Given the description of an element on the screen output the (x, y) to click on. 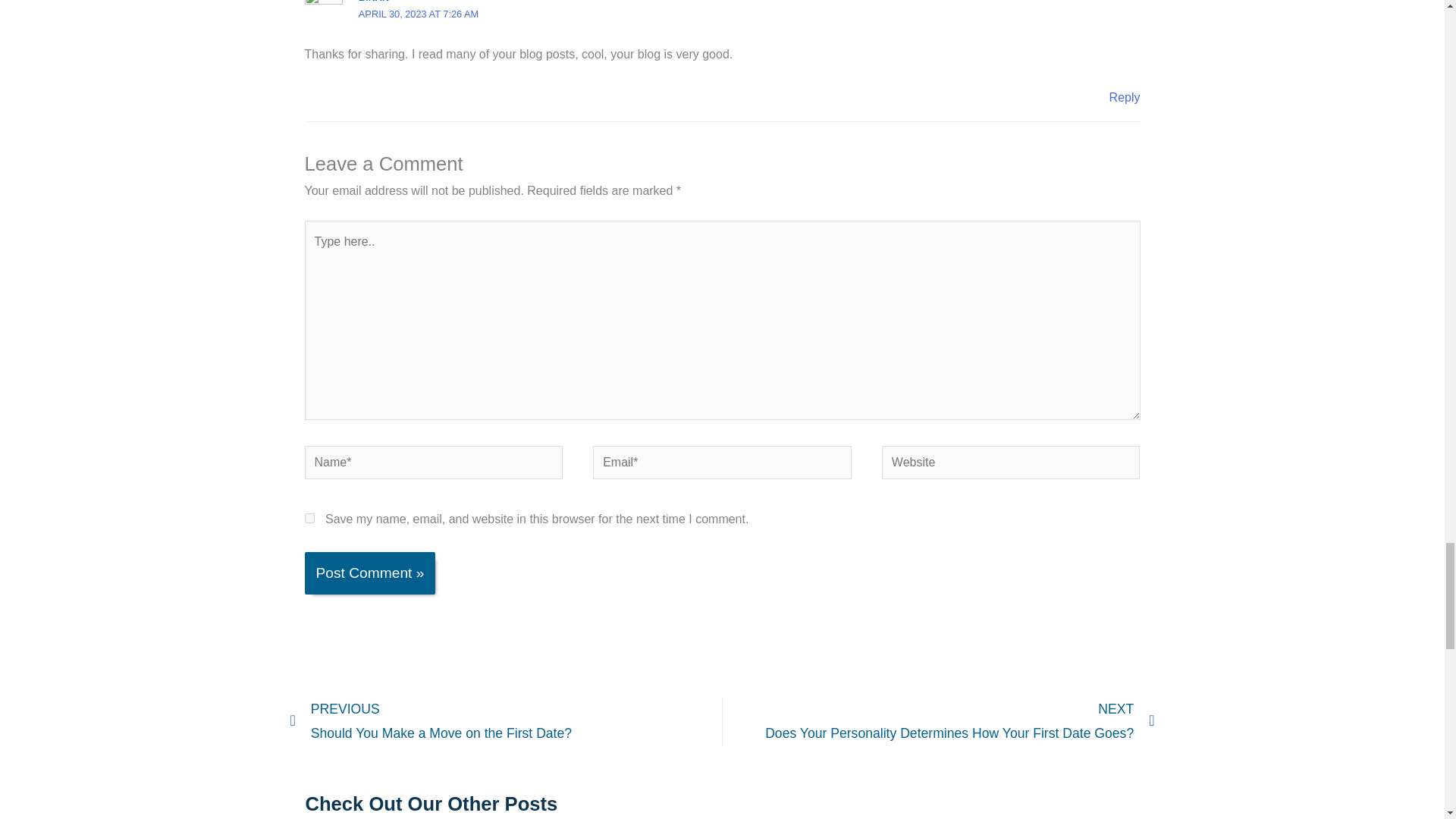
APRIL 30, 2023 AT 7:26 AM (418, 13)
yes (309, 518)
Reply (1124, 97)
